Given the description of an element on the screen output the (x, y) to click on. 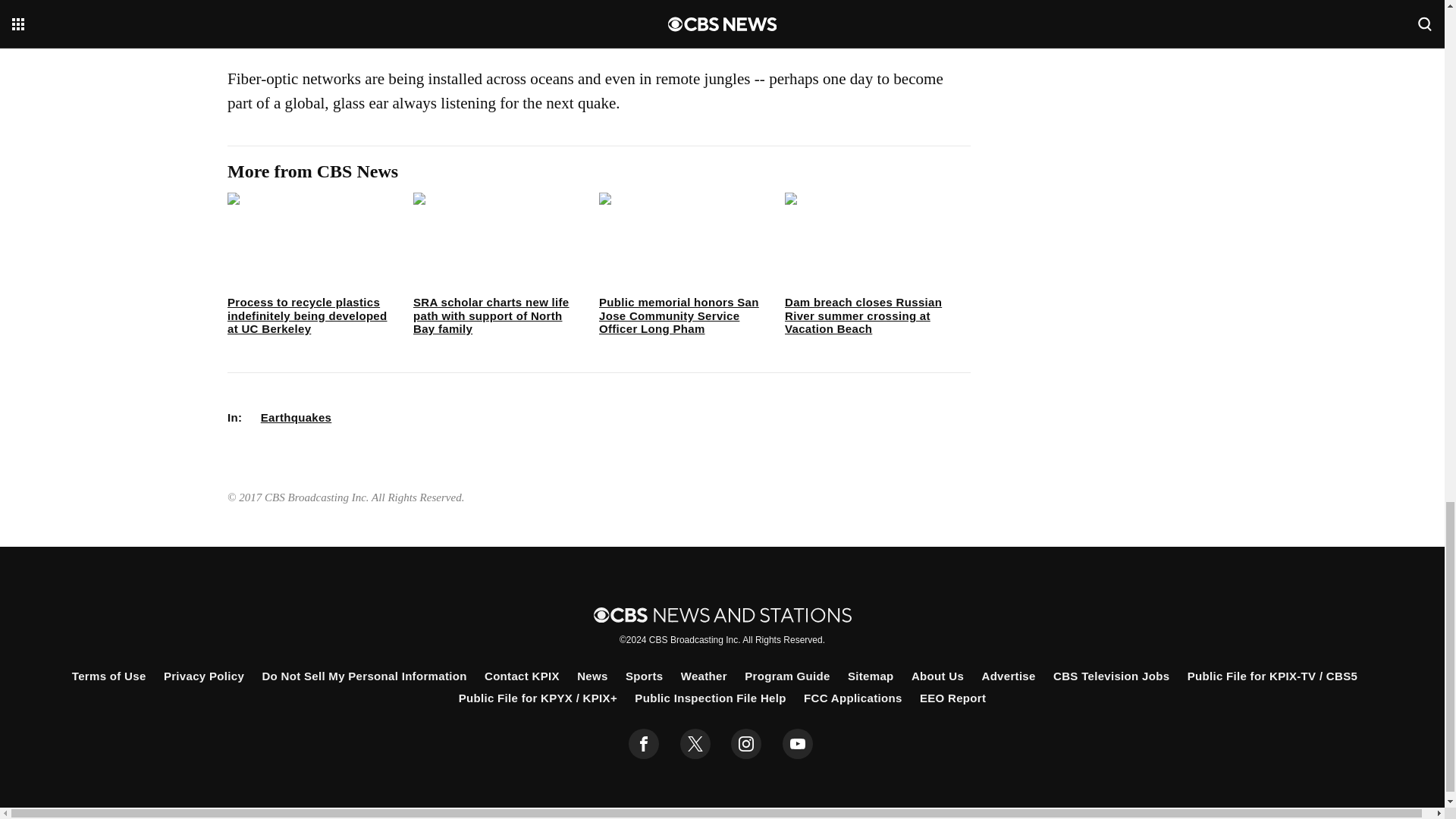
twitter (694, 743)
instagram (745, 743)
youtube (797, 743)
facebook (643, 743)
